Given the description of an element on the screen output the (x, y) to click on. 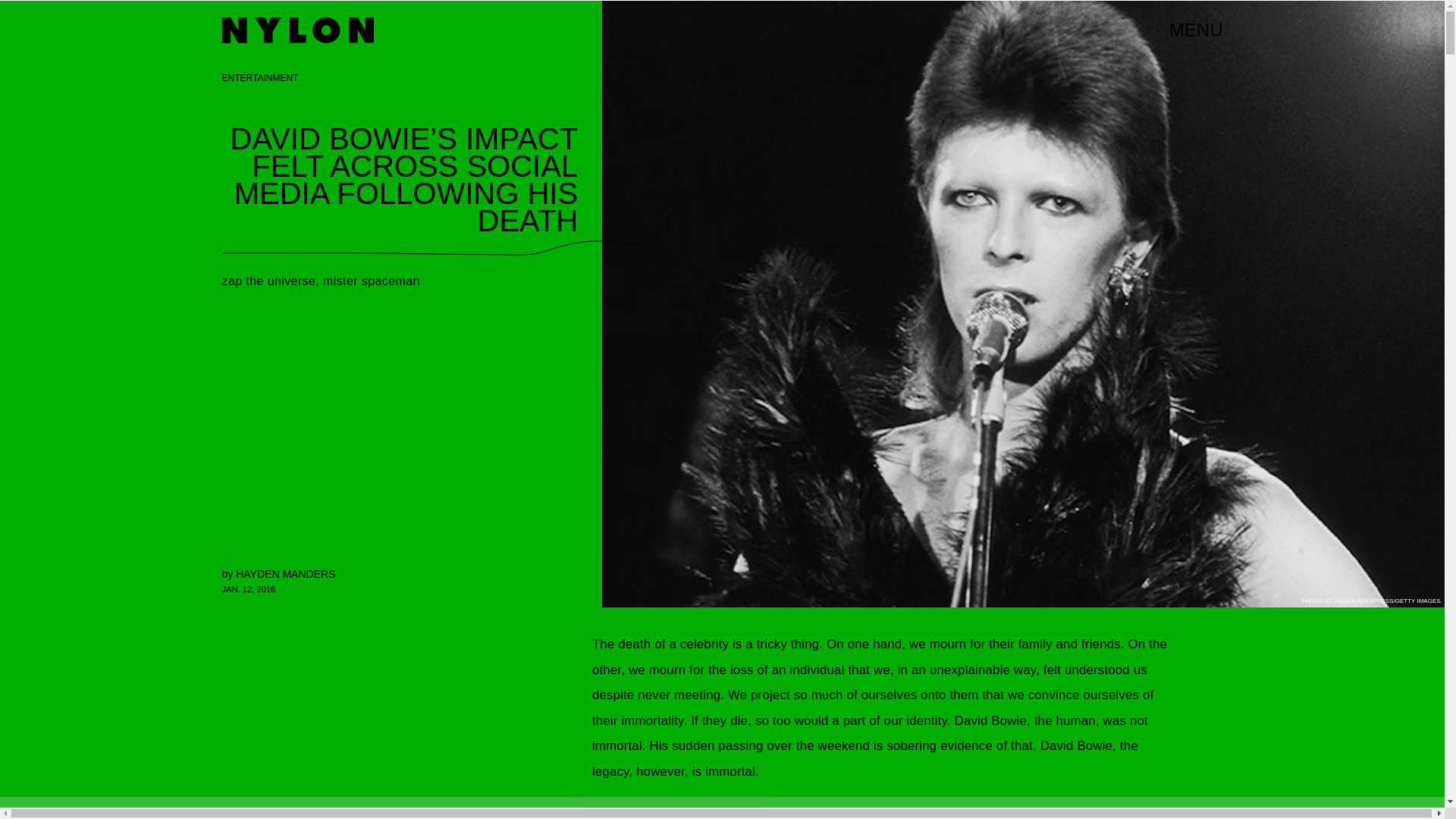
HAYDEN MANDERS (284, 573)
Nylon (296, 30)
